Given the description of an element on the screen output the (x, y) to click on. 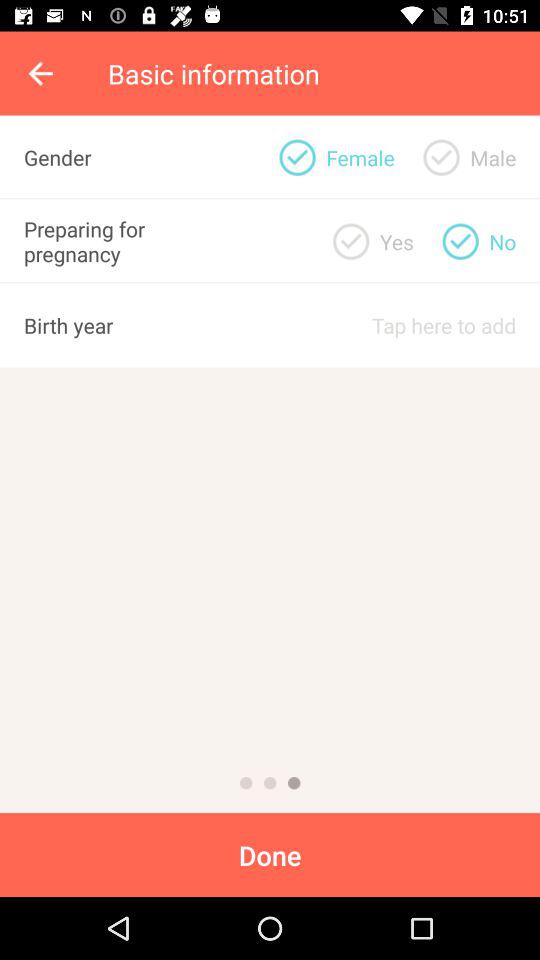
go to first page (246, 783)
